Given the description of an element on the screen output the (x, y) to click on. 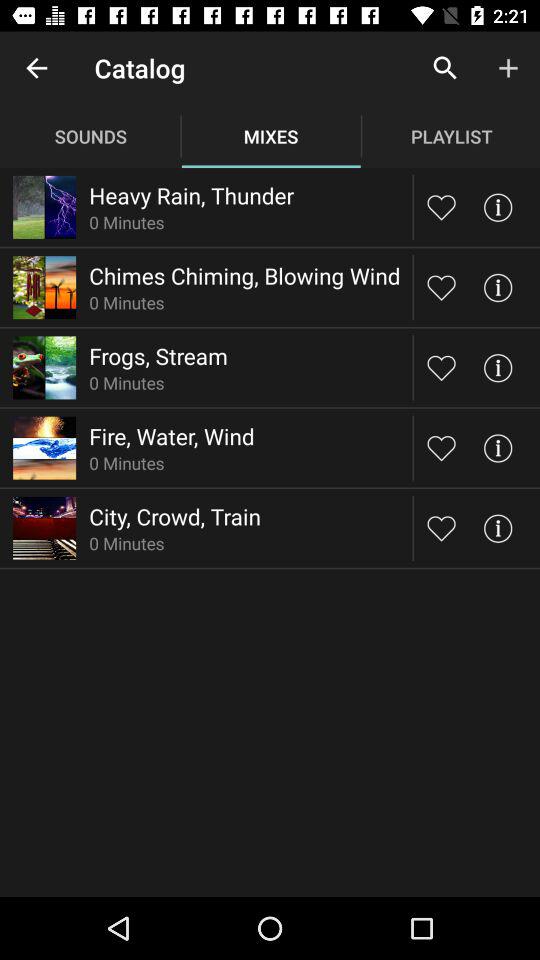
view more information (498, 447)
